Given the description of an element on the screen output the (x, y) to click on. 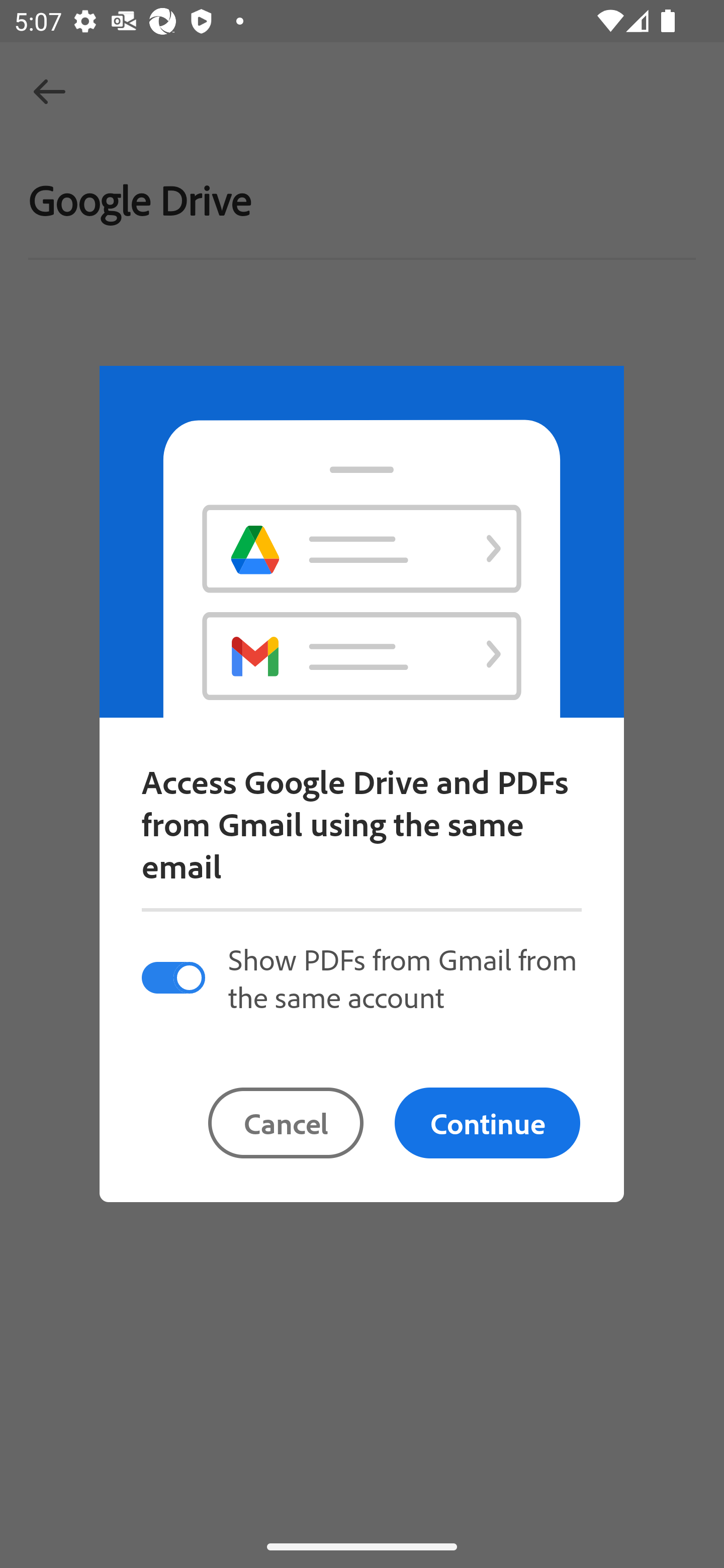
Show PDFs from Gmail from the same account (361, 977)
Cancel (285, 1123)
Continue (487, 1123)
